Given the description of an element on the screen output the (x, y) to click on. 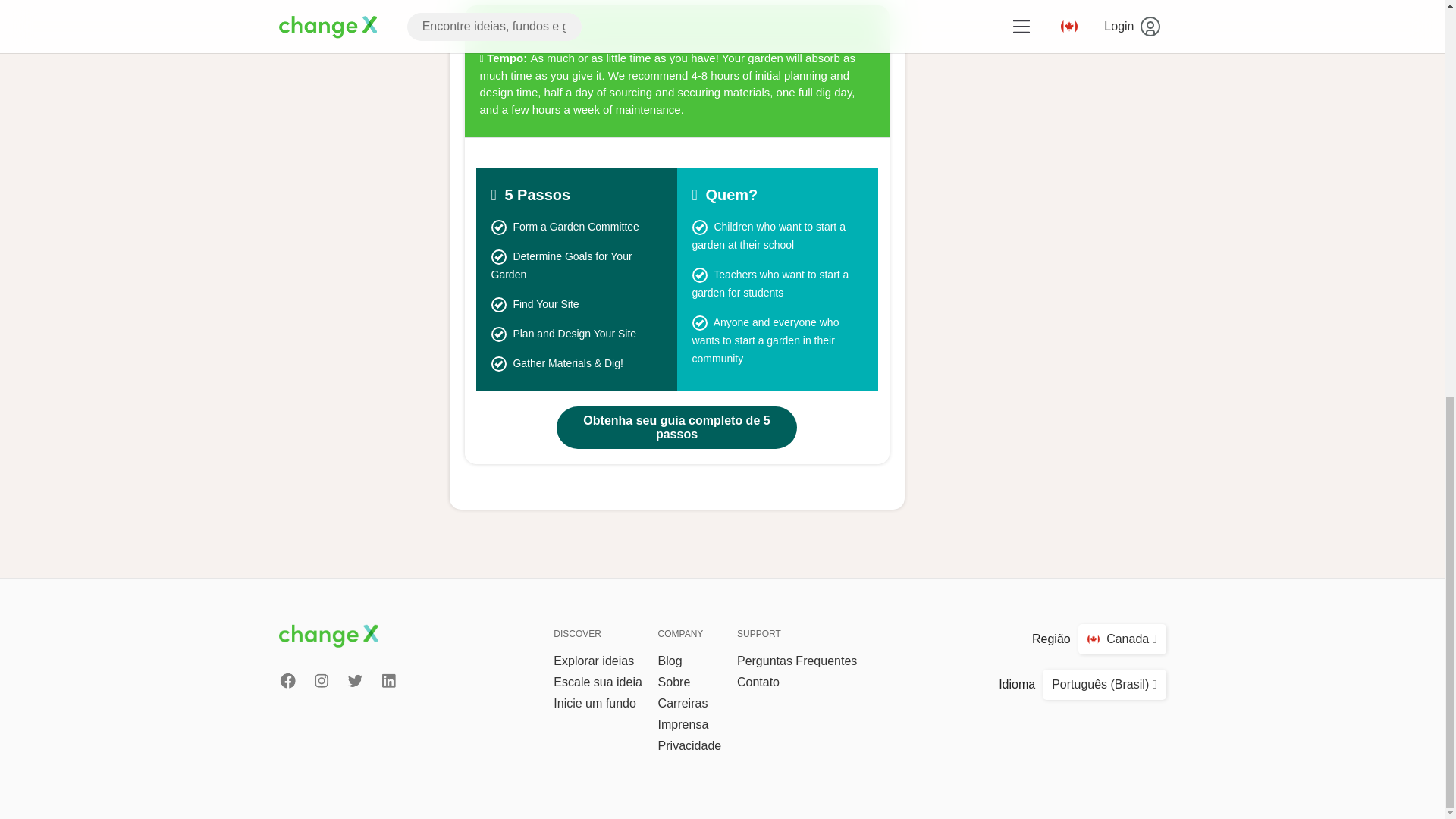
Obtenha seu guia completo de 5 passos (676, 427)
